Given the description of an element on the screen output the (x, y) to click on. 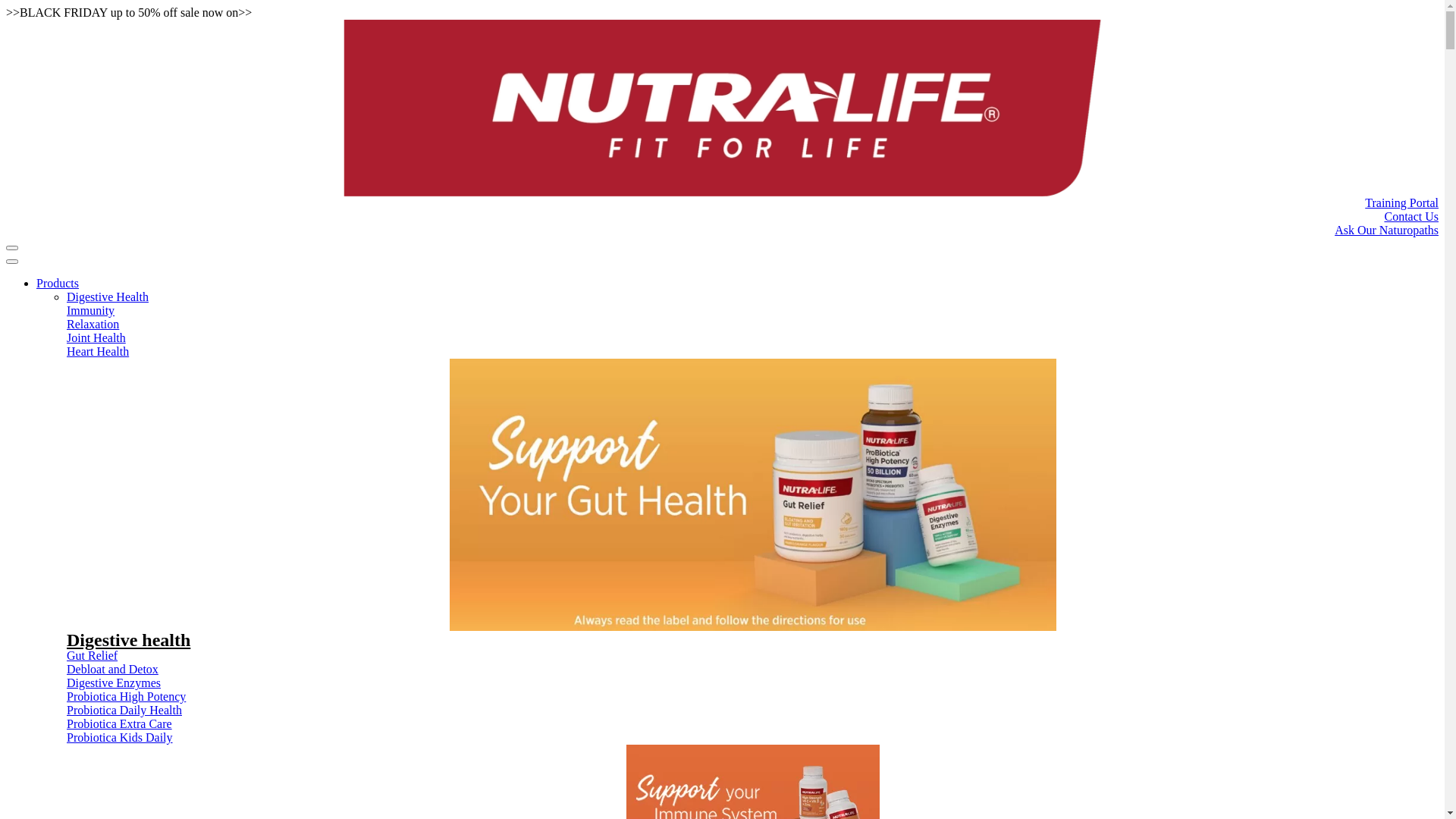
Digestive health Element type: text (128, 639)
Debloat and Detox Element type: text (752, 669)
Heart Health Element type: text (752, 351)
Training Portal Element type: text (722, 203)
Probiotica High Potency Element type: text (752, 696)
Digestive Health Element type: text (752, 297)
Digestive Enzymes Element type: text (752, 683)
Ask Our Naturopaths Element type: text (722, 230)
Products Element type: text (57, 282)
Probiotica Extra Care Element type: text (752, 724)
Contact Us Element type: text (722, 216)
Skip to content Element type: text (5, 5)
Relaxation Element type: text (752, 324)
Immunity Element type: text (752, 310)
Probiotica Daily Health Element type: text (752, 710)
Gut Relief Element type: text (752, 655)
Probiotica Kids Daily Element type: text (752, 737)
Joint Health Element type: text (752, 338)
